Given the description of an element on the screen output the (x, y) to click on. 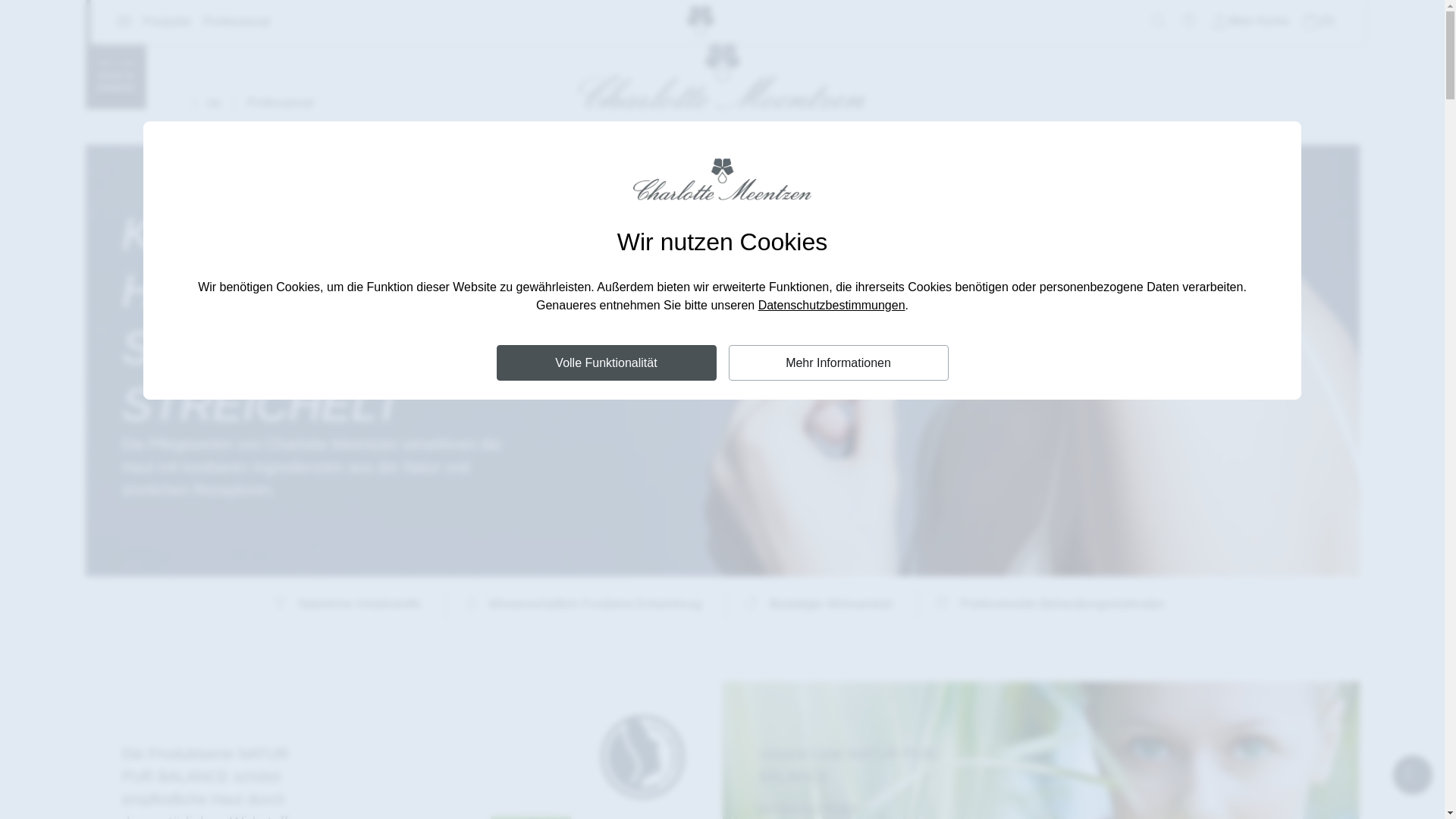
Pflegen Sie Ihre Daten (1249, 21)
Professional (229, 21)
Produkte (152, 21)
Charlotte Meentzen - zur Startseite wechseln (722, 75)
Professional (272, 103)
Charlotte Meentzen Logo - zur Startseite wechseln (700, 31)
Mein Konto (1249, 21)
DE (202, 103)
